Given the description of an element on the screen output the (x, y) to click on. 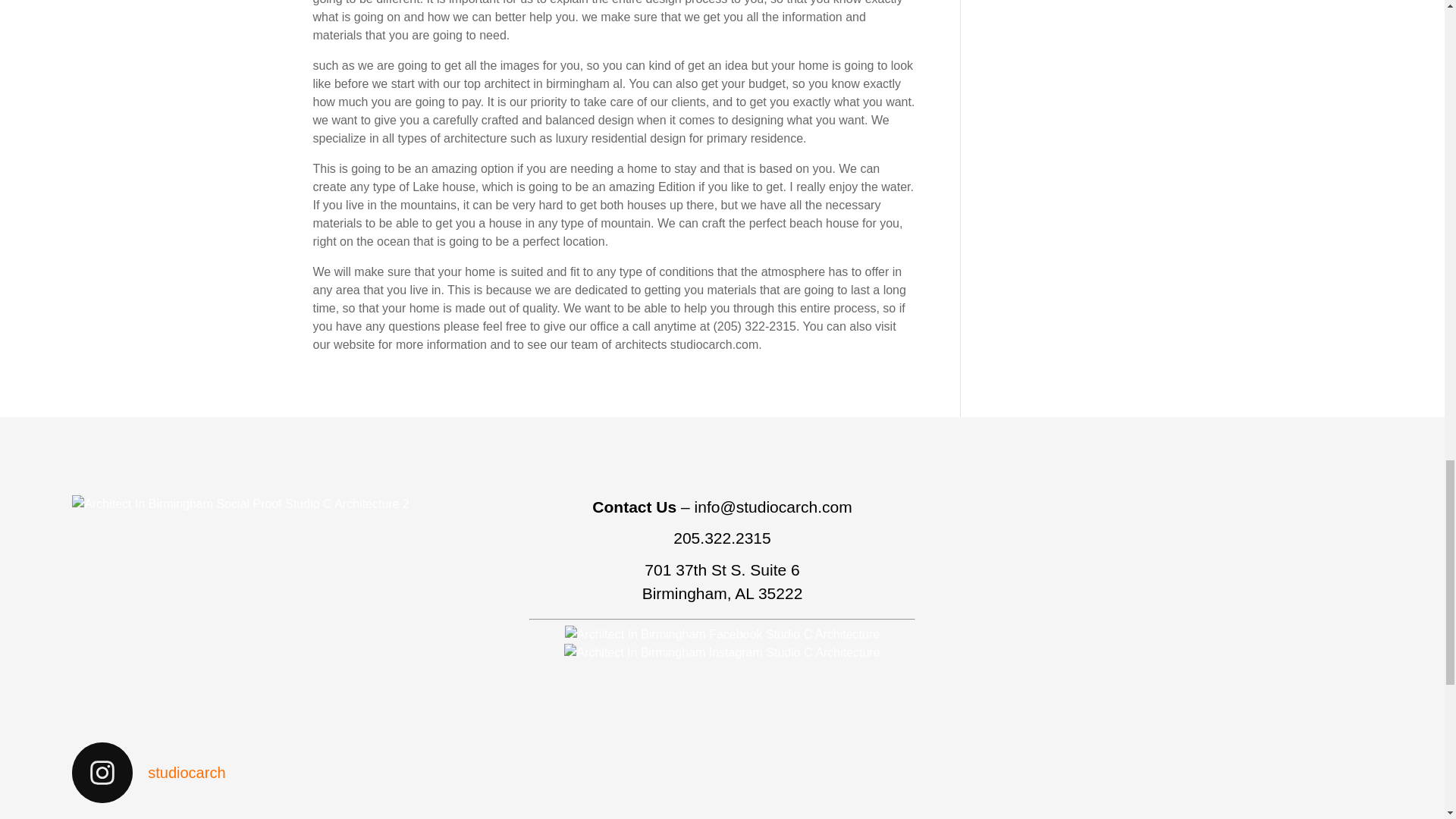
701 37th St S. Suite 6 (722, 569)
studiocarch (264, 772)
205.322.2315 (721, 538)
